Given the description of an element on the screen output the (x, y) to click on. 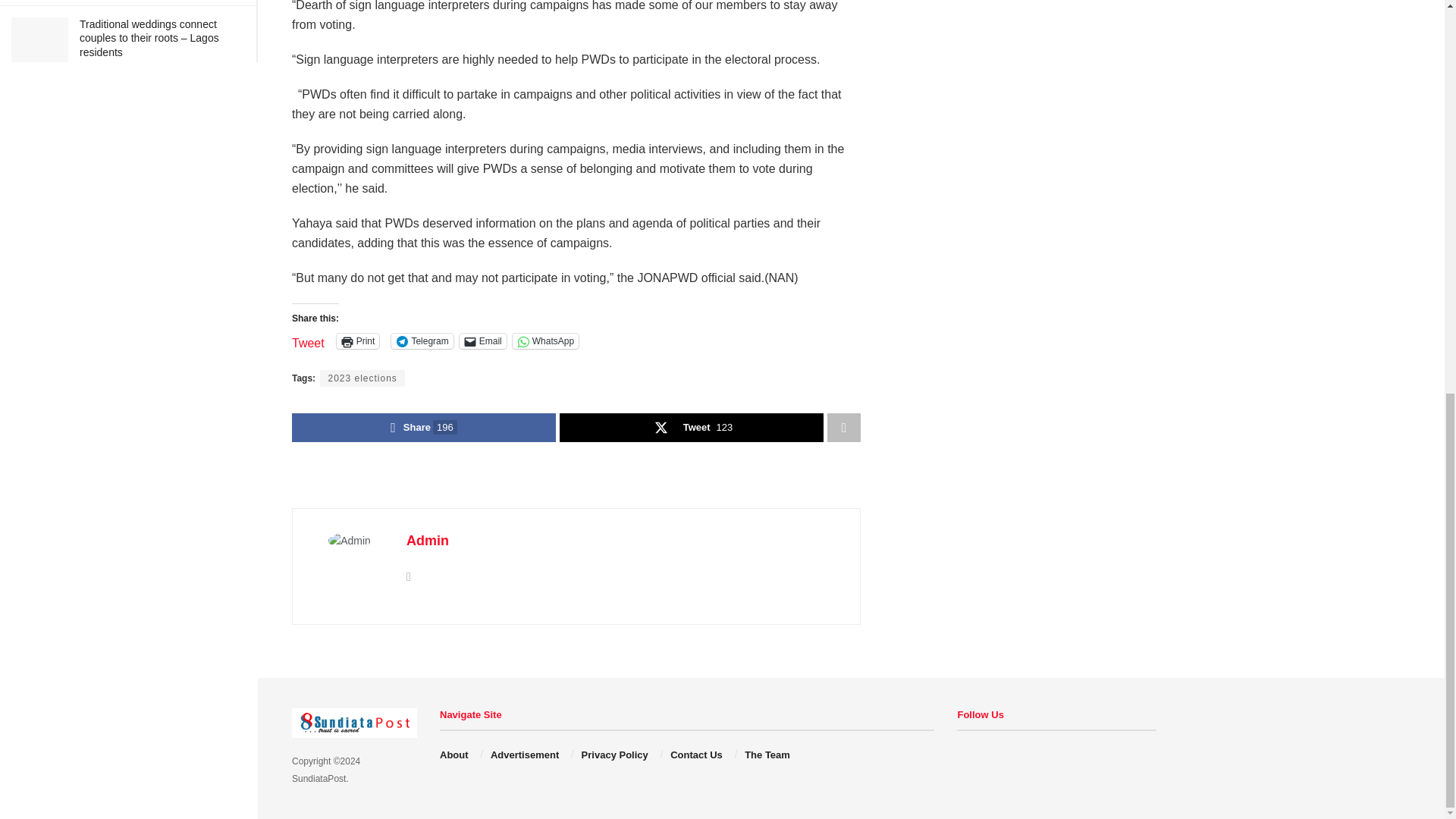
Click to email a link to a friend (483, 340)
Click to share on WhatsApp (545, 340)
Click to print (358, 340)
Click to share on Telegram (421, 340)
